Given the description of an element on the screen output the (x, y) to click on. 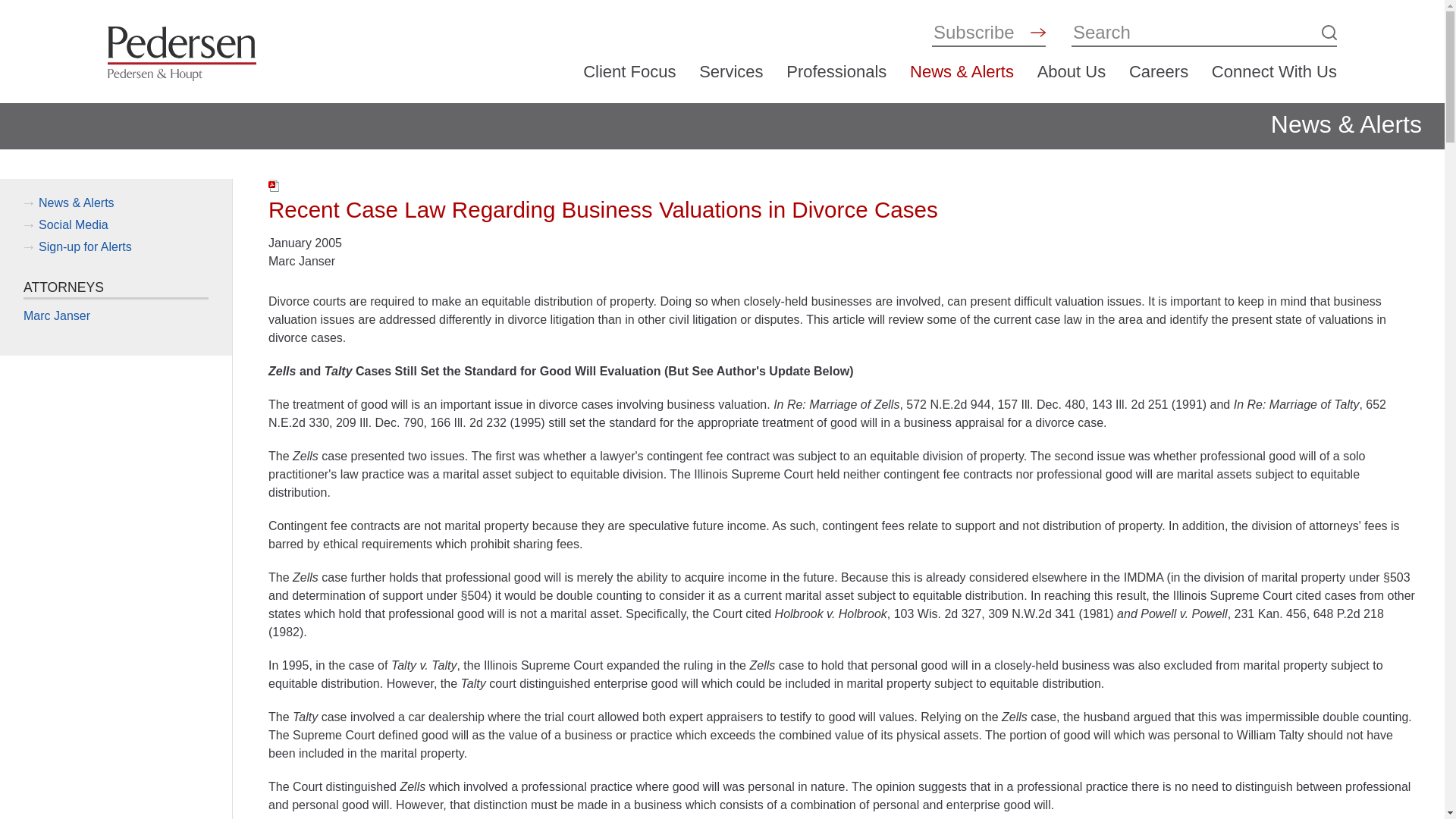
Services (730, 71)
Client Focus (629, 71)
Search (1194, 31)
Print PDF (274, 185)
Subscribe (978, 31)
Search (1194, 31)
Subscribe (978, 31)
